Given the description of an element on the screen output the (x, y) to click on. 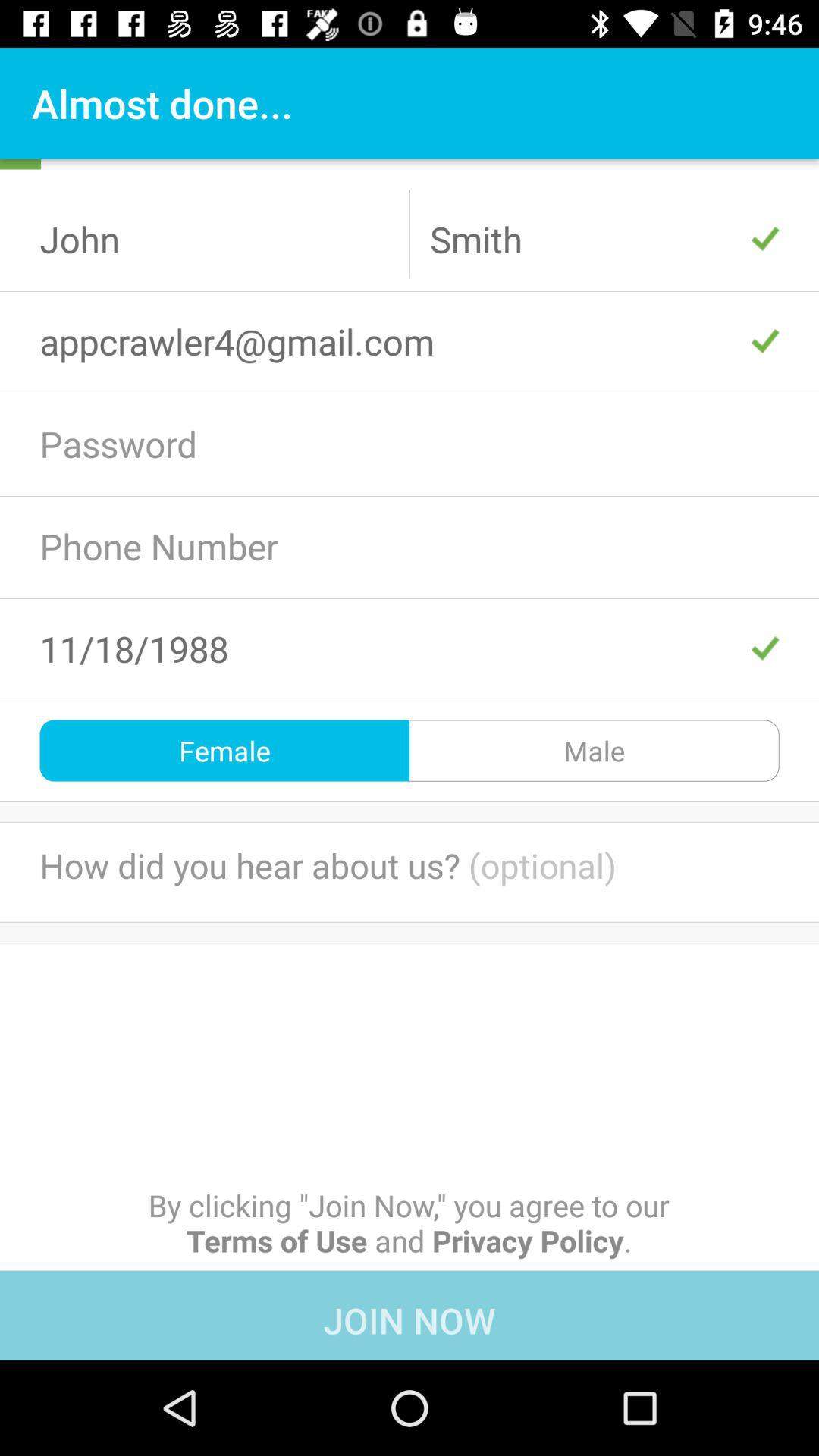
turn on the icon on the right (594, 750)
